Given the description of an element on the screen output the (x, y) to click on. 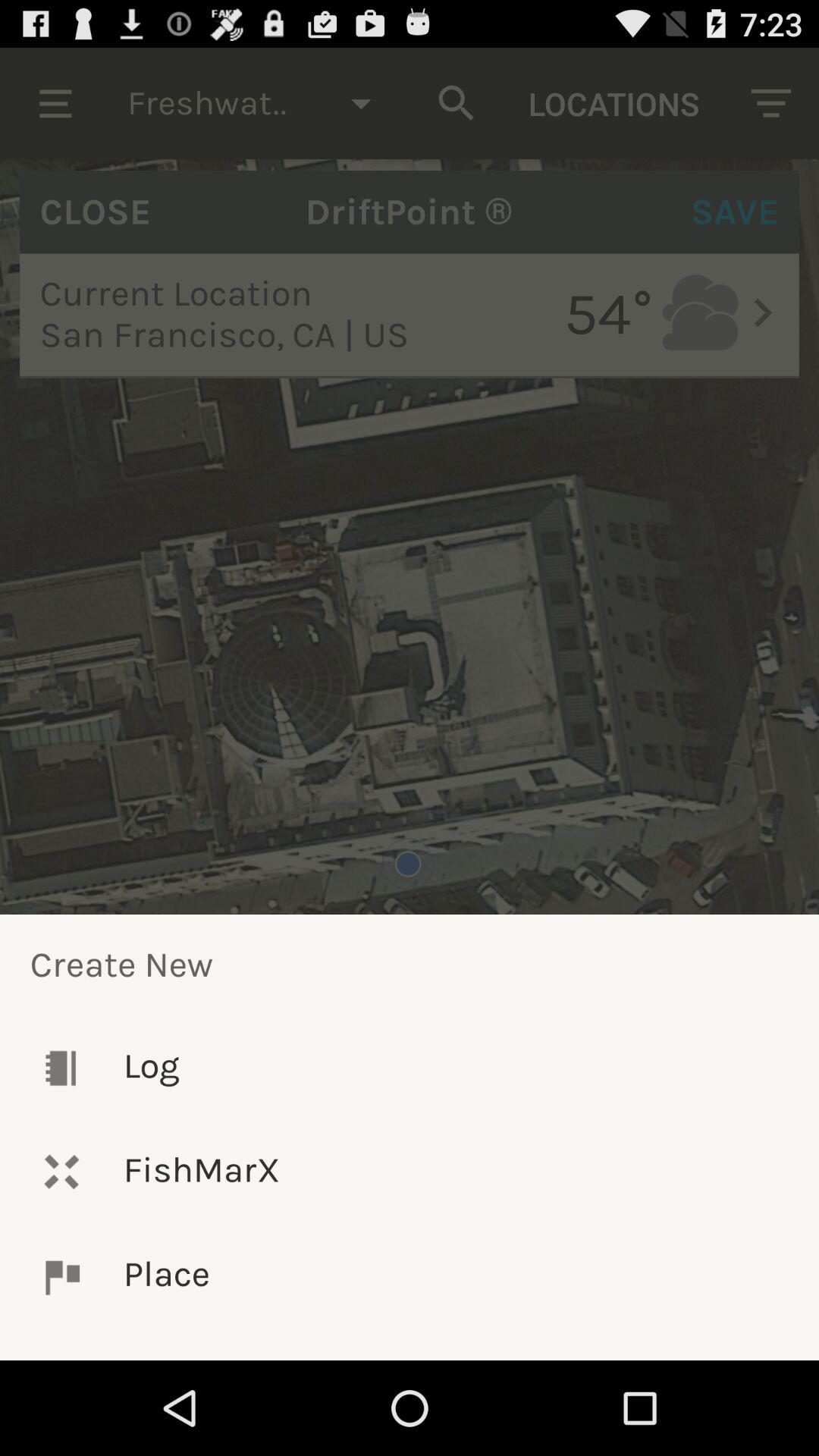
scroll until fishmarx icon (409, 1171)
